Given the description of an element on the screen output the (x, y) to click on. 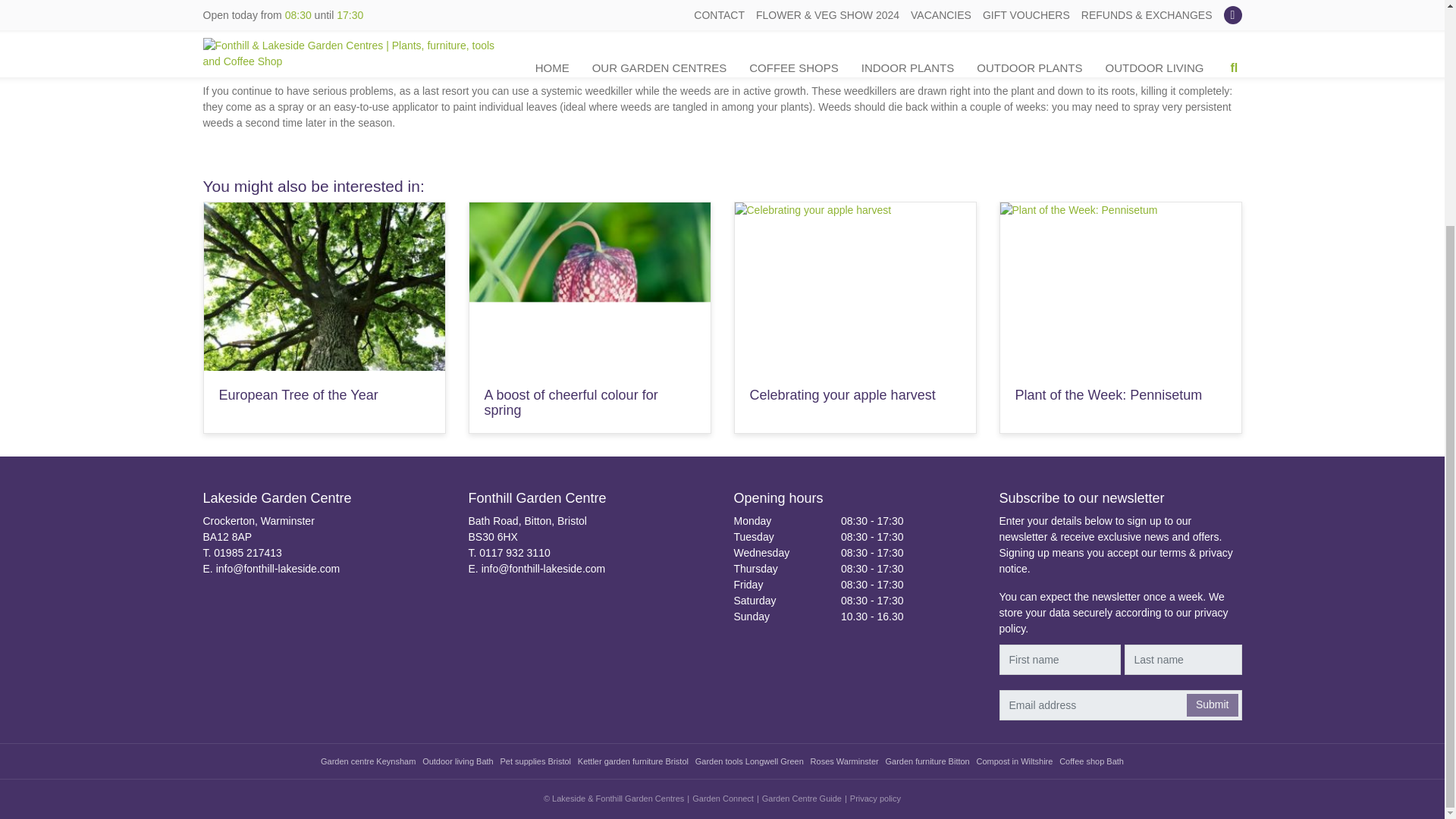
Celebrating your apple harvest (841, 394)
European Tree of the Year (297, 394)
privacy policy. (1113, 619)
Plant of the Week: Pennisetum (1108, 394)
A boost of cheerful colour for spring (570, 402)
Submit (1212, 703)
